Given the description of an element on the screen output the (x, y) to click on. 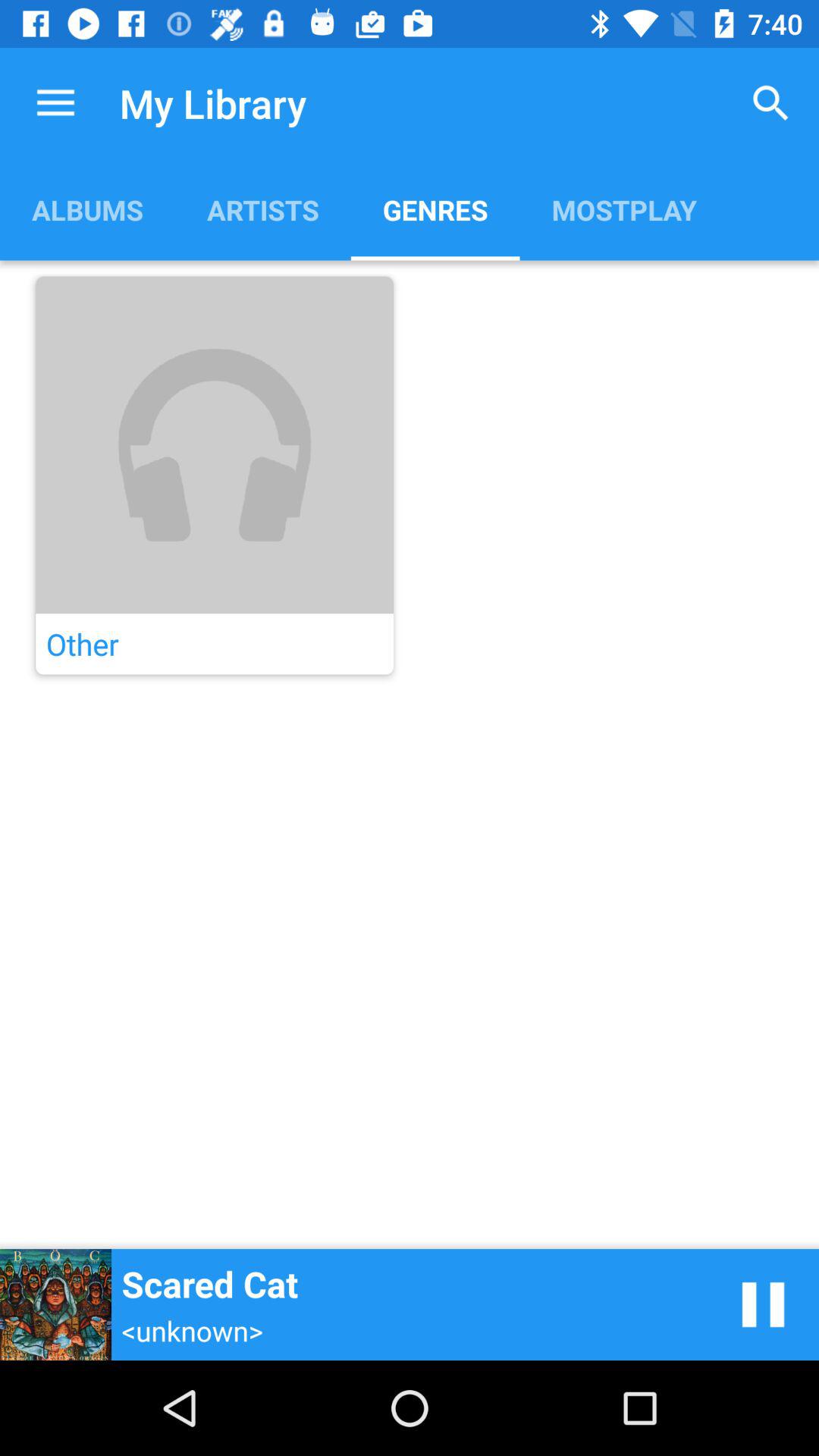
turn on icon to the right of the genres icon (771, 103)
